Given the description of an element on the screen output the (x, y) to click on. 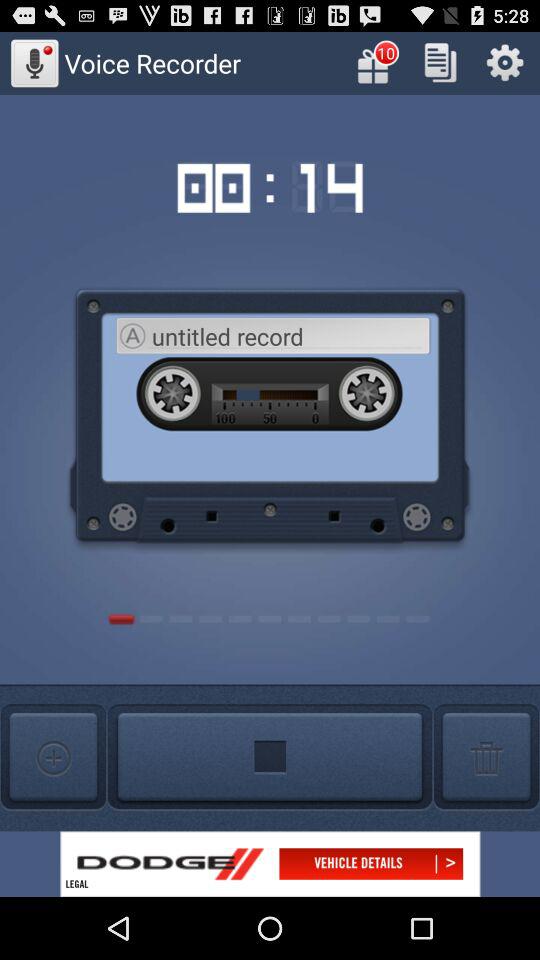
click advertisement (270, 864)
